Given the description of an element on the screen output the (x, y) to click on. 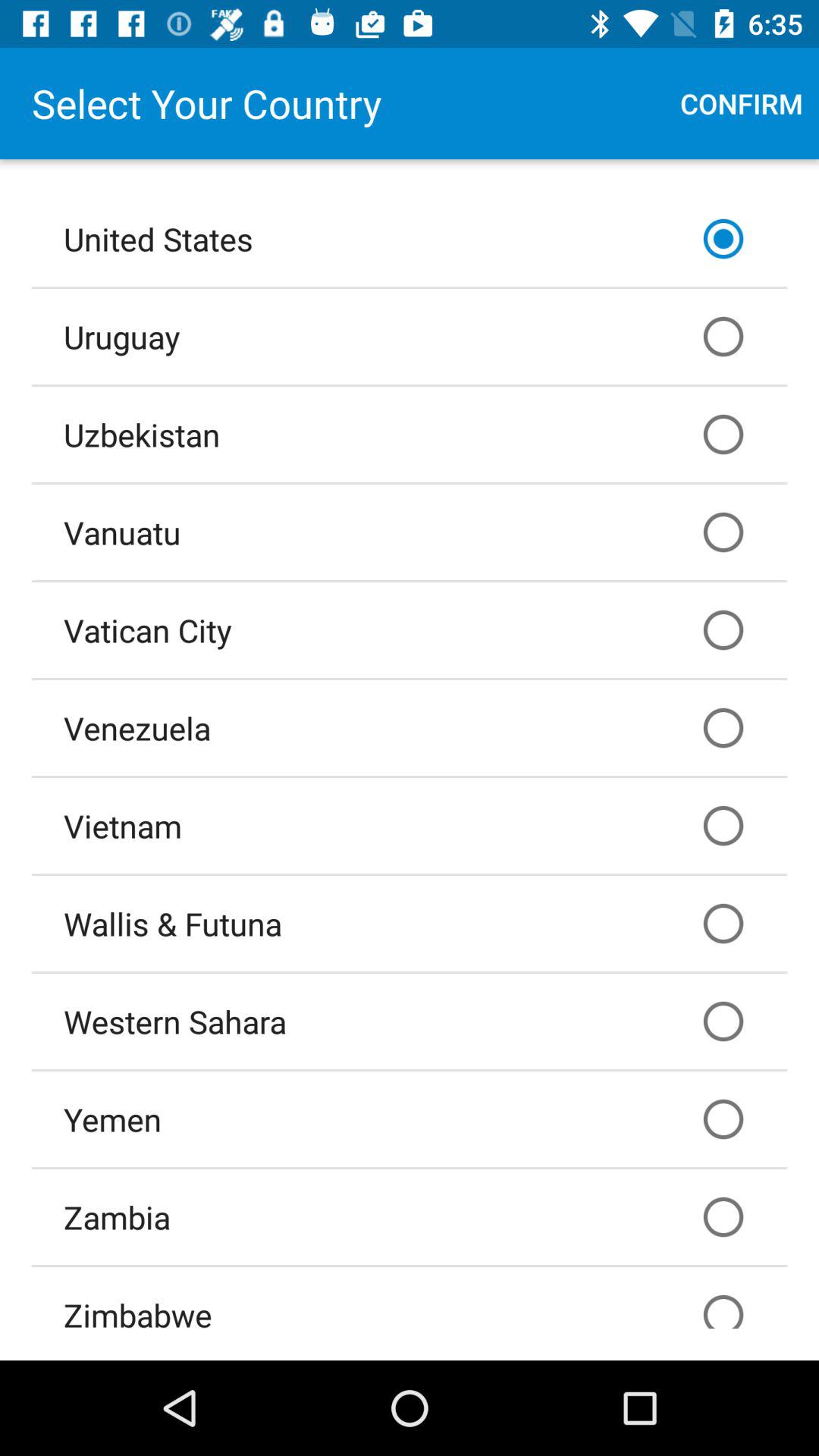
launch icon above vatican city item (409, 532)
